Given the description of an element on the screen output the (x, y) to click on. 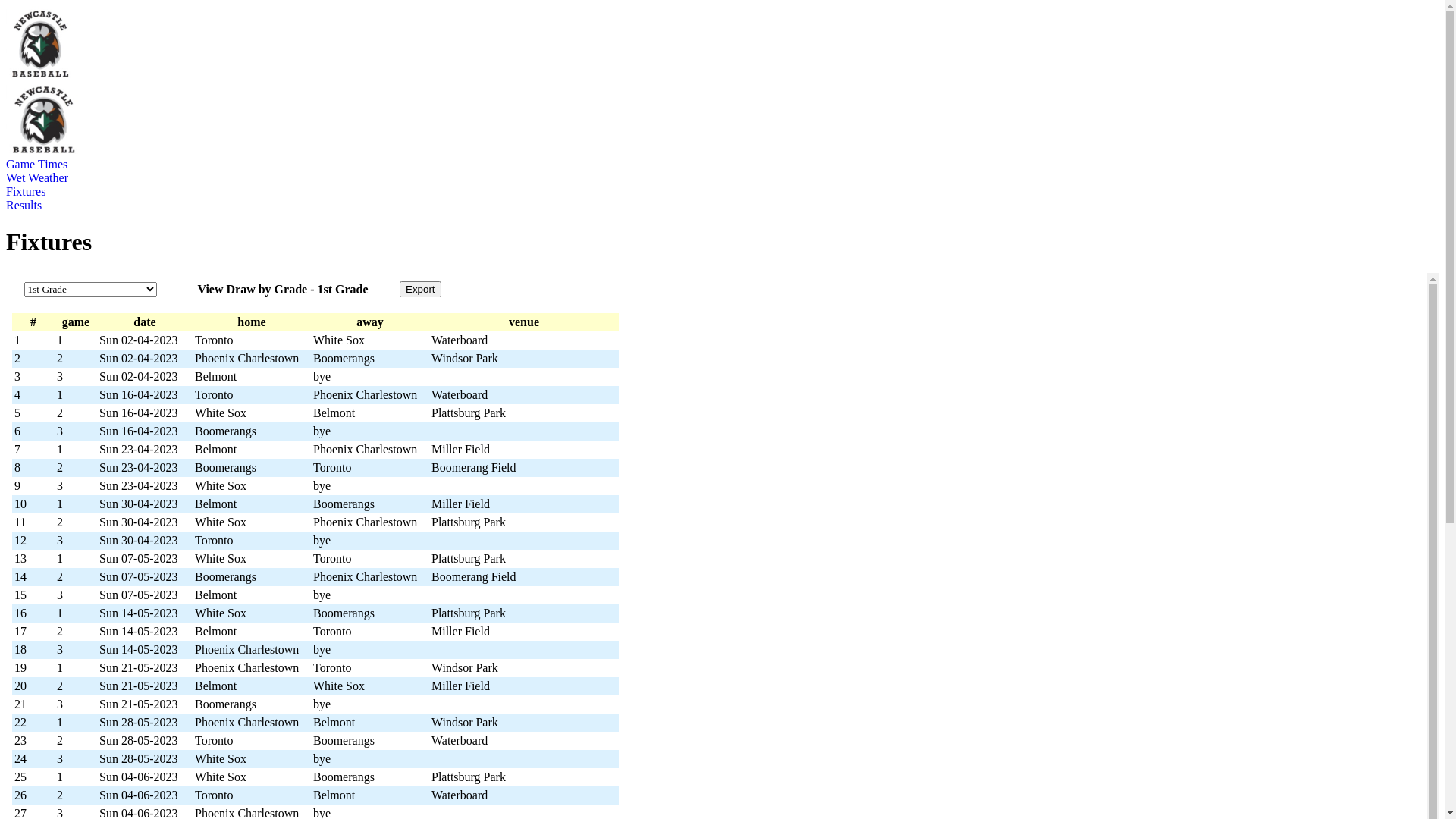
Results Element type: text (23, 205)
Wet Weather Element type: text (37, 178)
Fixtures Element type: text (25, 191)
Game Times Element type: text (36, 164)
